Given the description of an element on the screen output the (x, y) to click on. 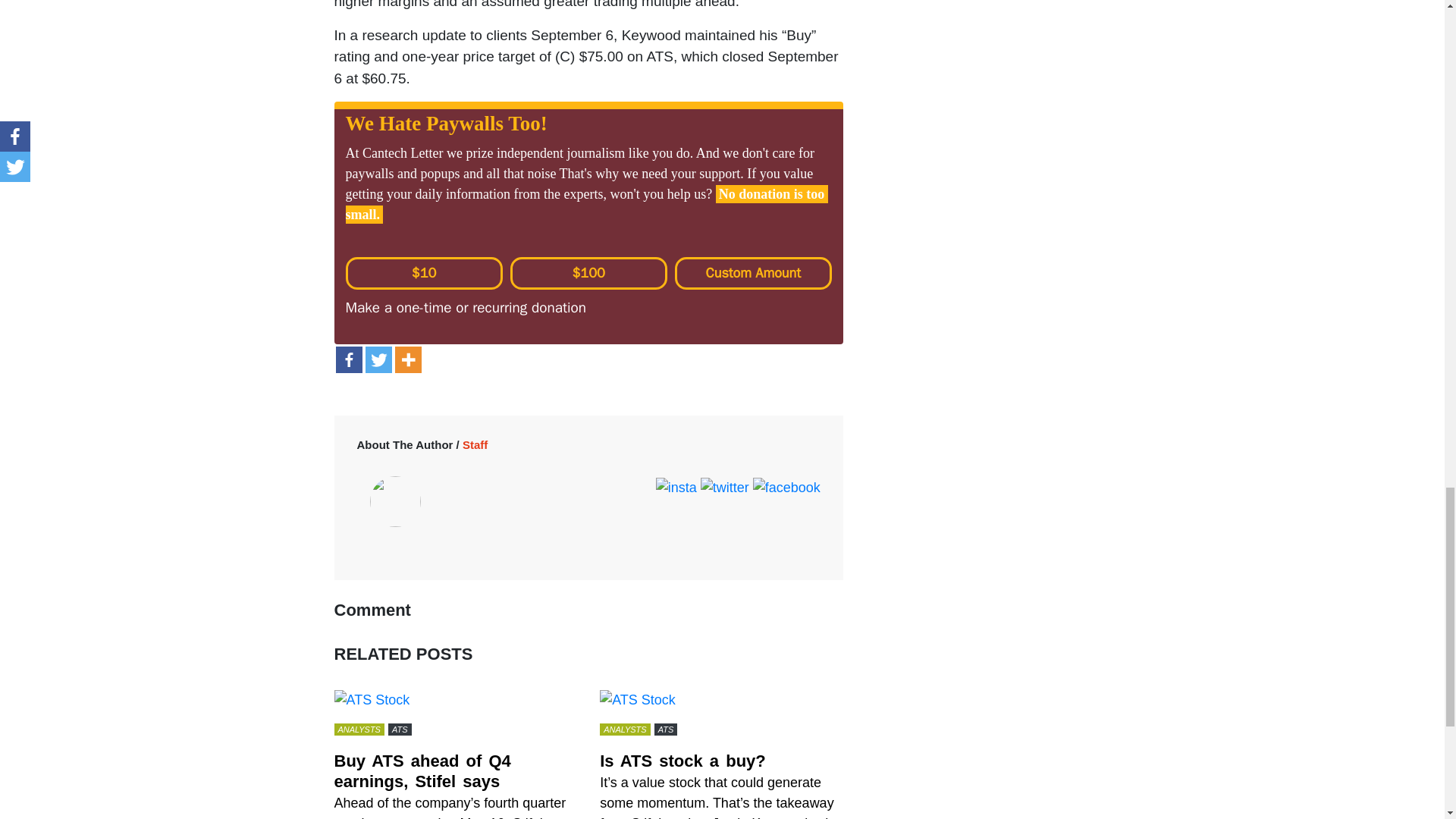
Twitter (378, 359)
Facebook (347, 359)
More (407, 359)
